Given the description of an element on the screen output the (x, y) to click on. 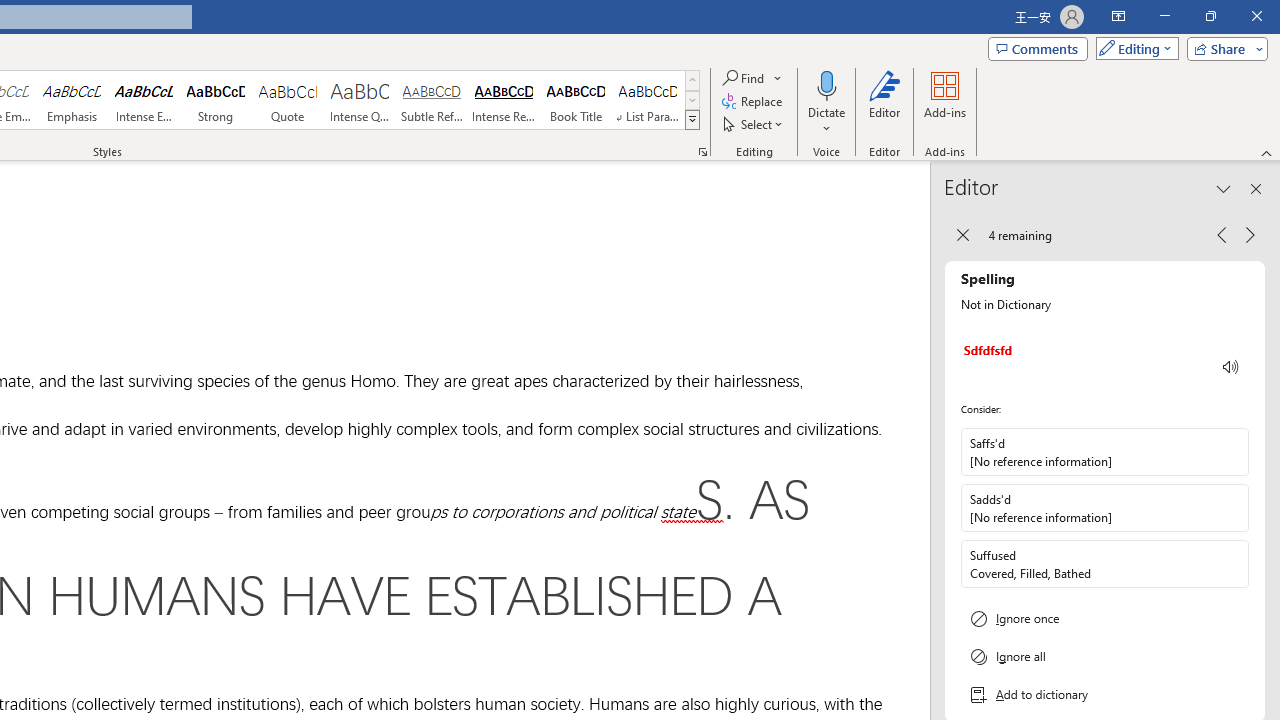
Close (1256, 16)
Row up (692, 79)
Select (754, 124)
Book Title (575, 100)
More Options (826, 121)
Ignore all (1105, 656)
More options for Suffused (1232, 563)
Add to dictionary (1105, 695)
Share (1223, 48)
Next Issue, 4 remaining (1250, 234)
Find (744, 78)
Minimize (1164, 16)
